Given the description of an element on the screen output the (x, y) to click on. 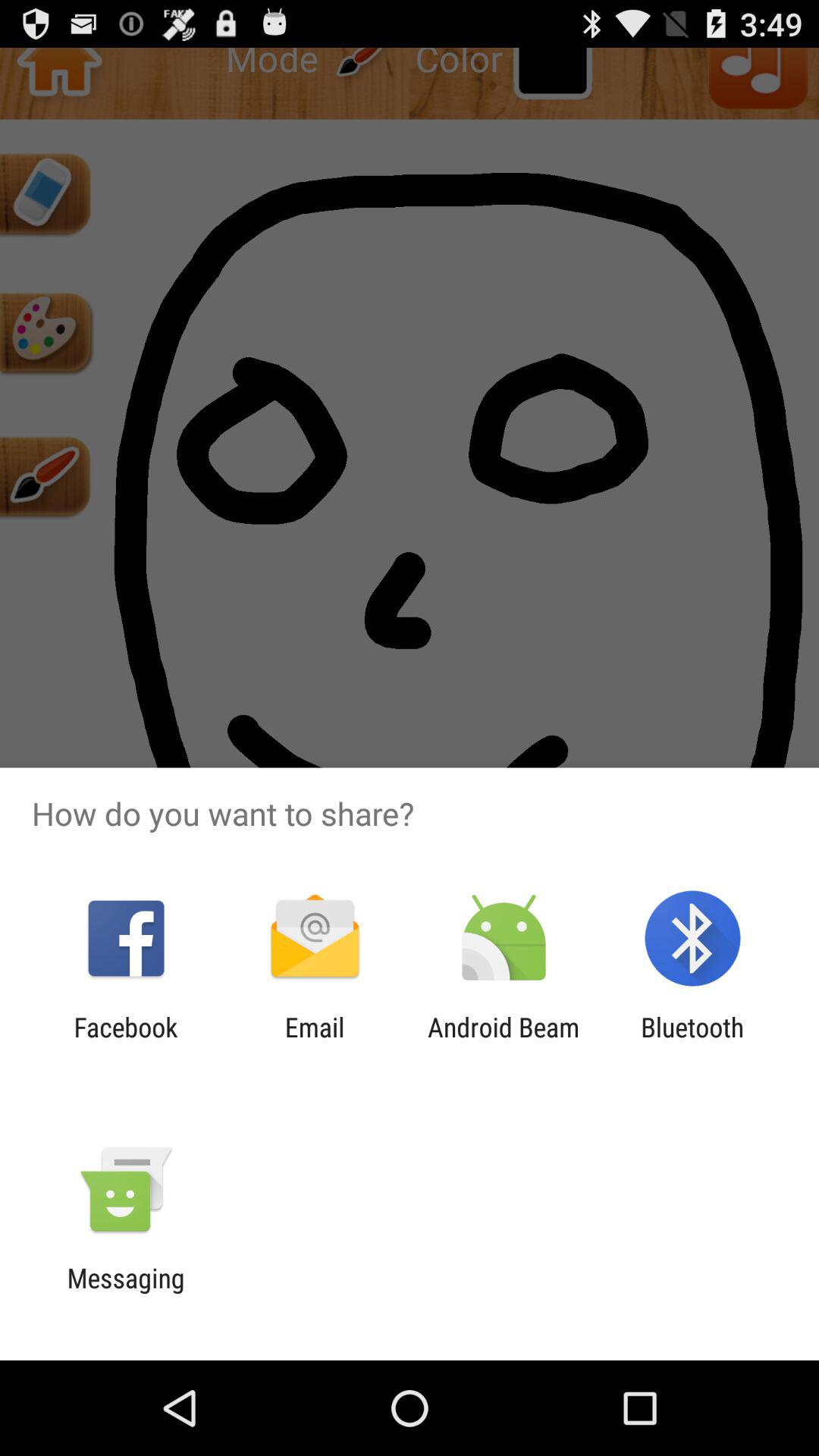
launch item to the left of email icon (125, 1042)
